Given the description of an element on the screen output the (x, y) to click on. 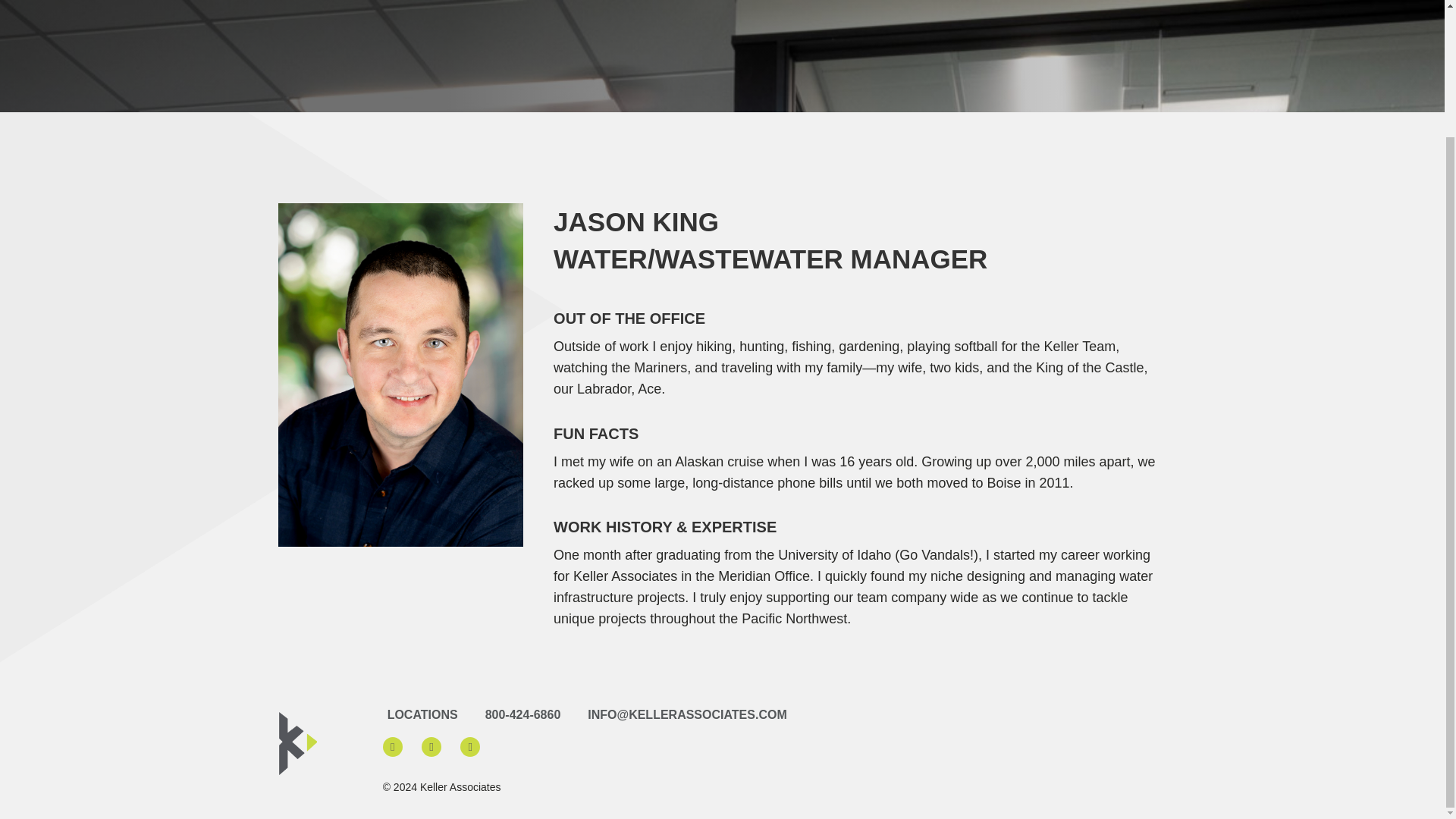
LOCATIONS (432, 710)
800-424-6860 (531, 710)
